Given the description of an element on the screen output the (x, y) to click on. 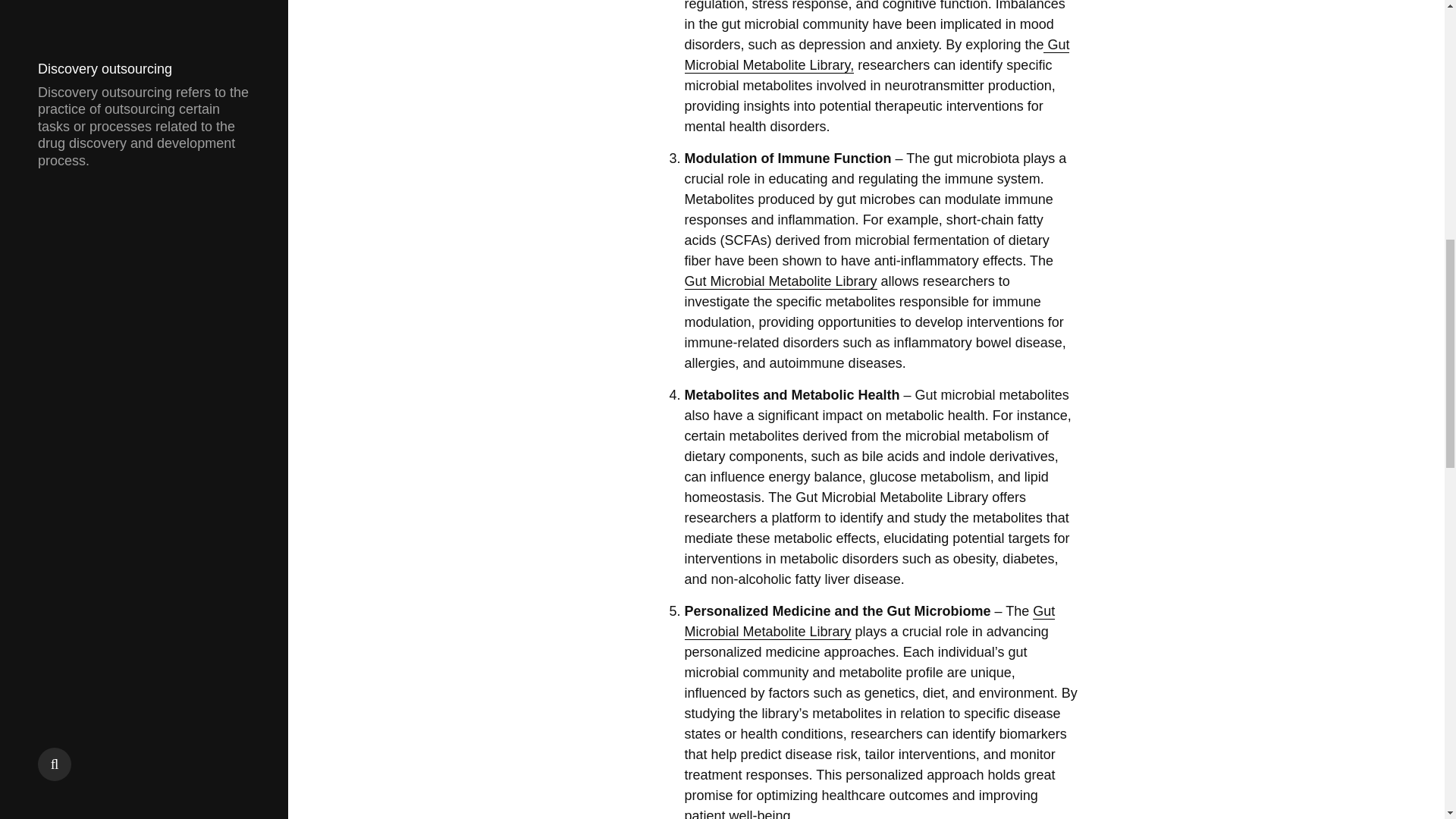
Gut Microbial Metabolite Library (780, 281)
Gut Microbial Metabolite Library, (876, 54)
Gut Microbial Metabolite Library (869, 621)
